Given the description of an element on the screen output the (x, y) to click on. 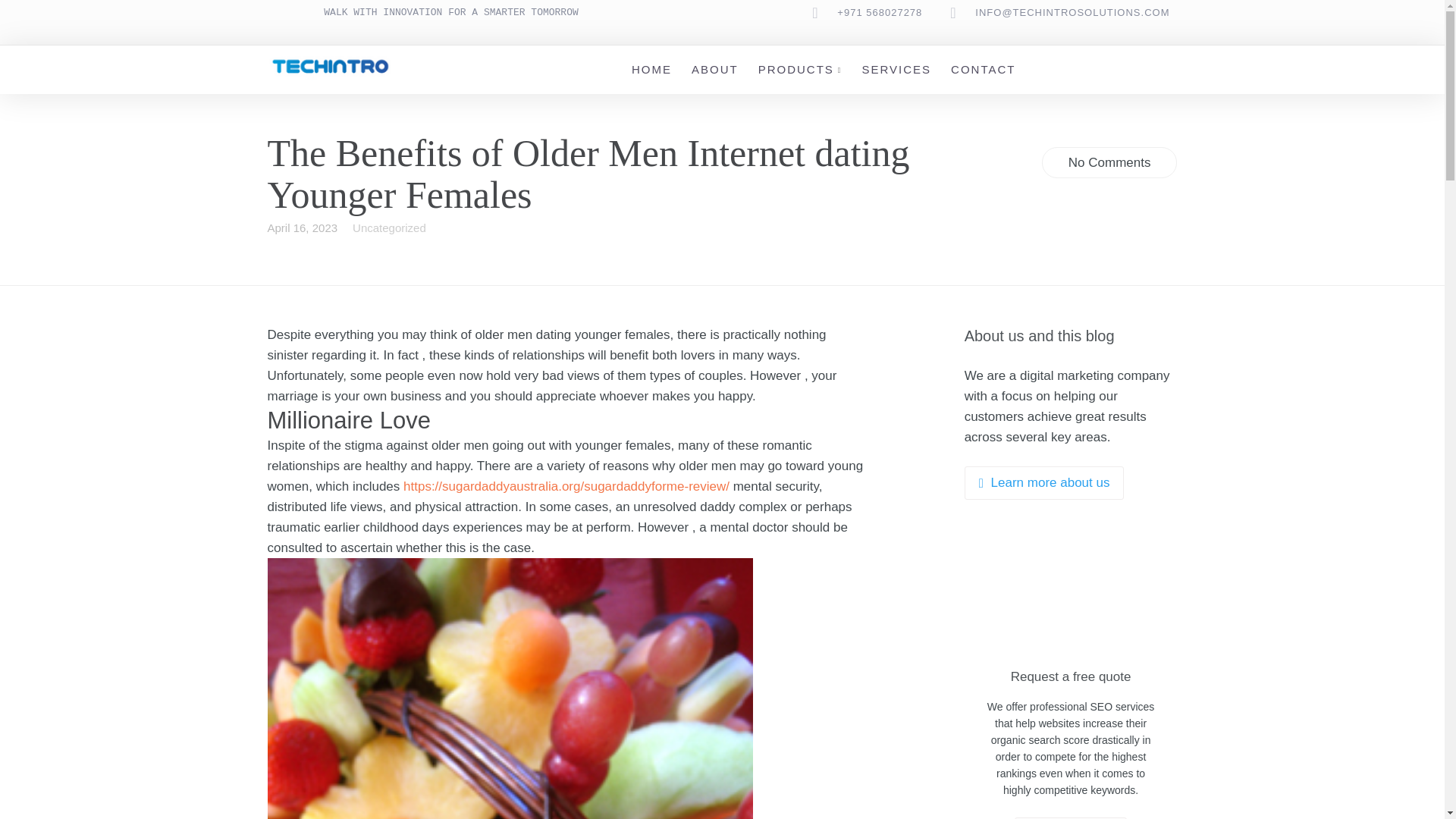
ABOUT (714, 69)
PRODUCTS (796, 69)
SERVICES (896, 69)
Uncategorized (389, 227)
Contact now (1070, 818)
HOME (651, 69)
Learn more about us (1043, 482)
CONTACT (982, 69)
